Given the description of an element on the screen output the (x, y) to click on. 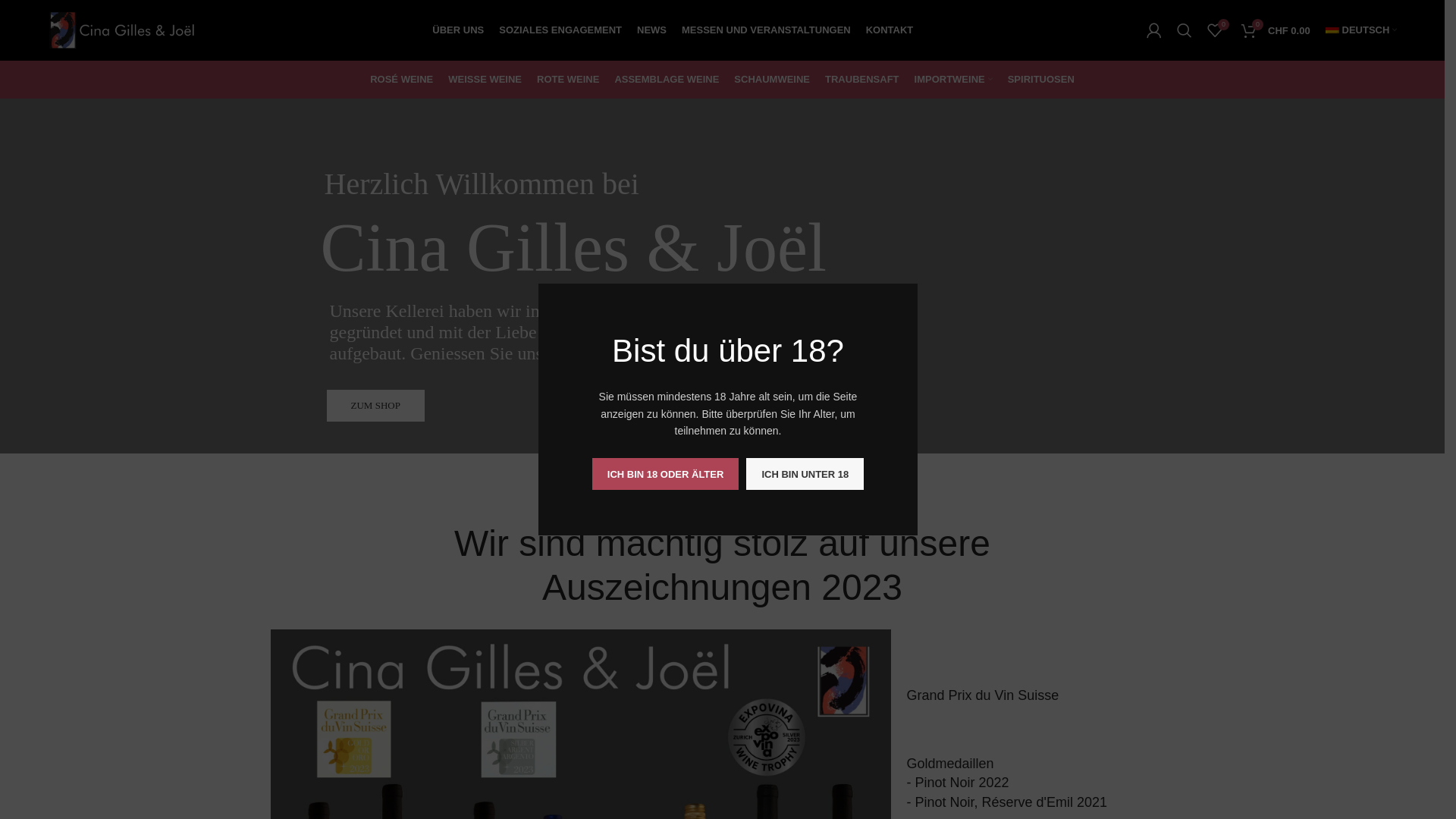
ASSEMBLAGE WEINE Element type: text (666, 79)
NEWS Element type: text (651, 30)
DEUTSCH Element type: text (1361, 30)
ROTE WEINE Element type: text (567, 79)
SCHAUMWEINE Element type: text (771, 79)
KONTAKT Element type: text (889, 30)
ICH BIN UNTER 18 Element type: text (804, 473)
SPIRITUOSEN Element type: text (1040, 79)
WEISSE WEINE Element type: text (484, 79)
ZUM SHOP Element type: text (375, 405)
TRAUBENSAFT Element type: text (862, 79)
SOZIALES ENGAGEMENT Element type: text (559, 30)
My account Element type: hover (1154, 30)
0 Element type: text (1214, 30)
MESSEN UND VERANSTALTUNGEN Element type: text (765, 30)
Search Element type: hover (1184, 30)
0
CHF 0.00 Element type: text (1275, 30)
IMPORTWEINE Element type: text (953, 79)
